Given the description of an element on the screen output the (x, y) to click on. 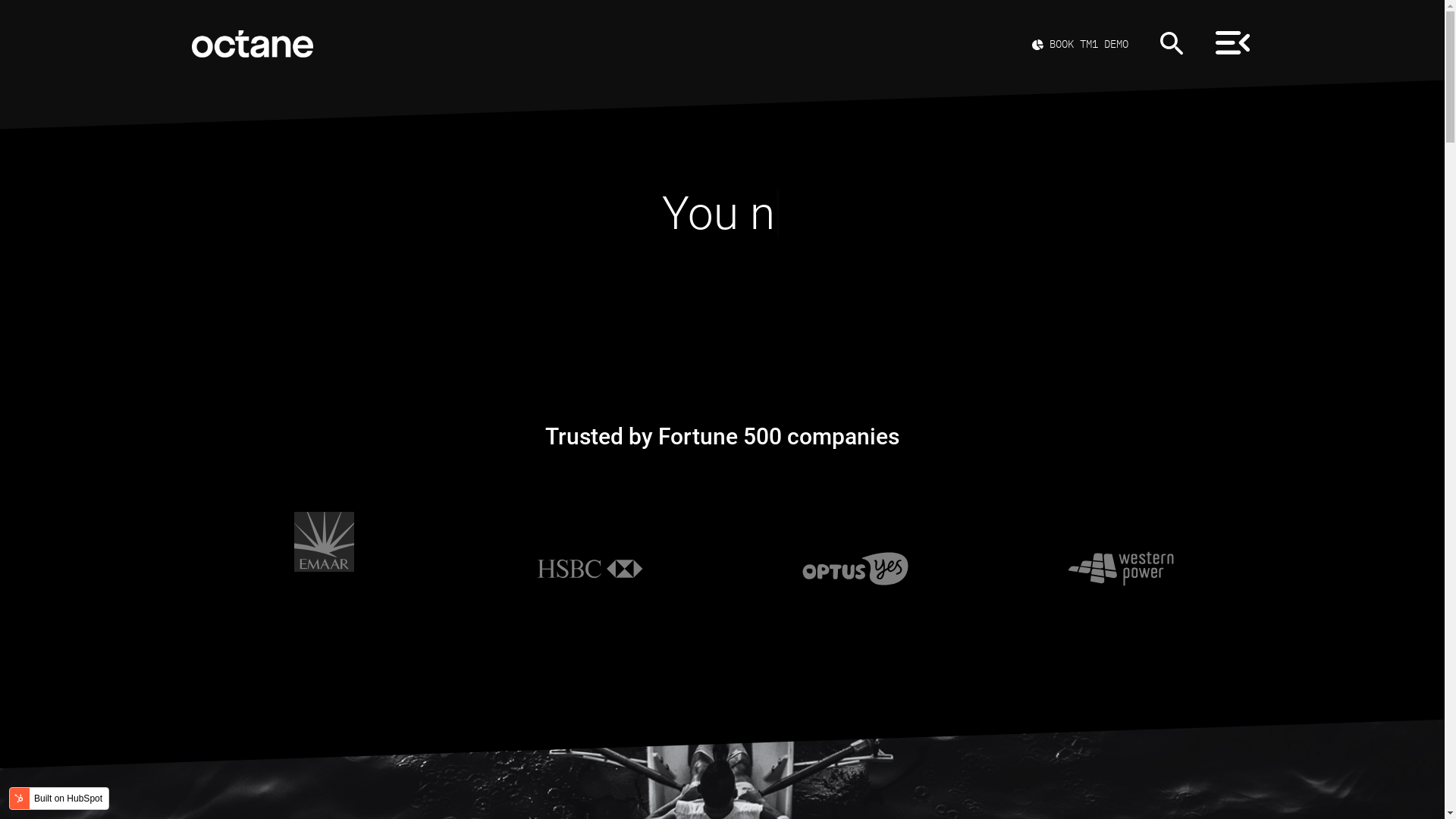
BOOK TM1 DEMO Element type: text (1079, 43)
octane_logo_white_rgb_1000px@72ppi Element type: hover (251, 43)
